Given the description of an element on the screen output the (x, y) to click on. 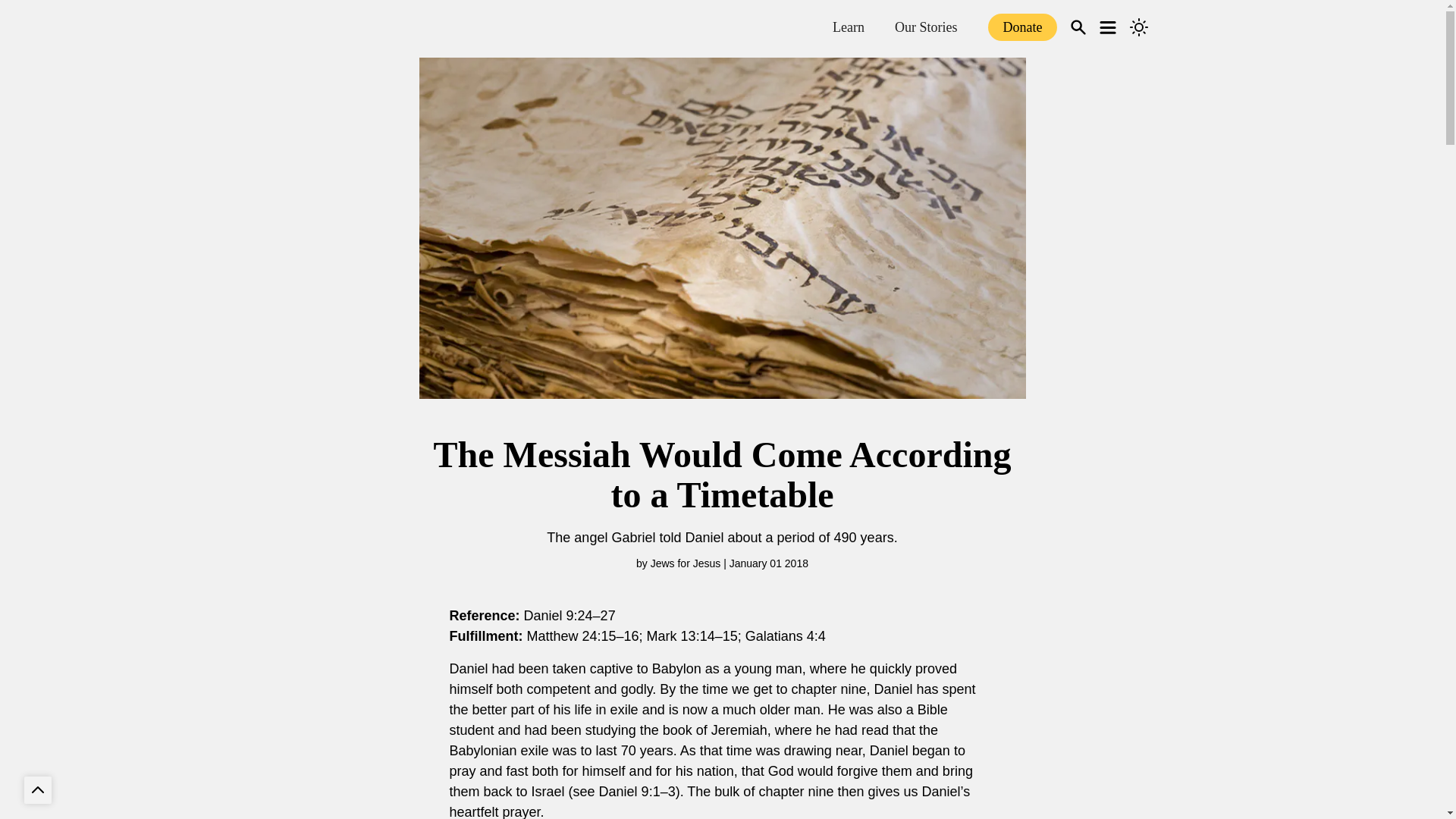
Learn (848, 26)
Search (1077, 27)
Light Mode (1138, 27)
Donate (1022, 26)
Our Stories (926, 26)
Menu (1108, 27)
